Given the description of an element on the screen output the (x, y) to click on. 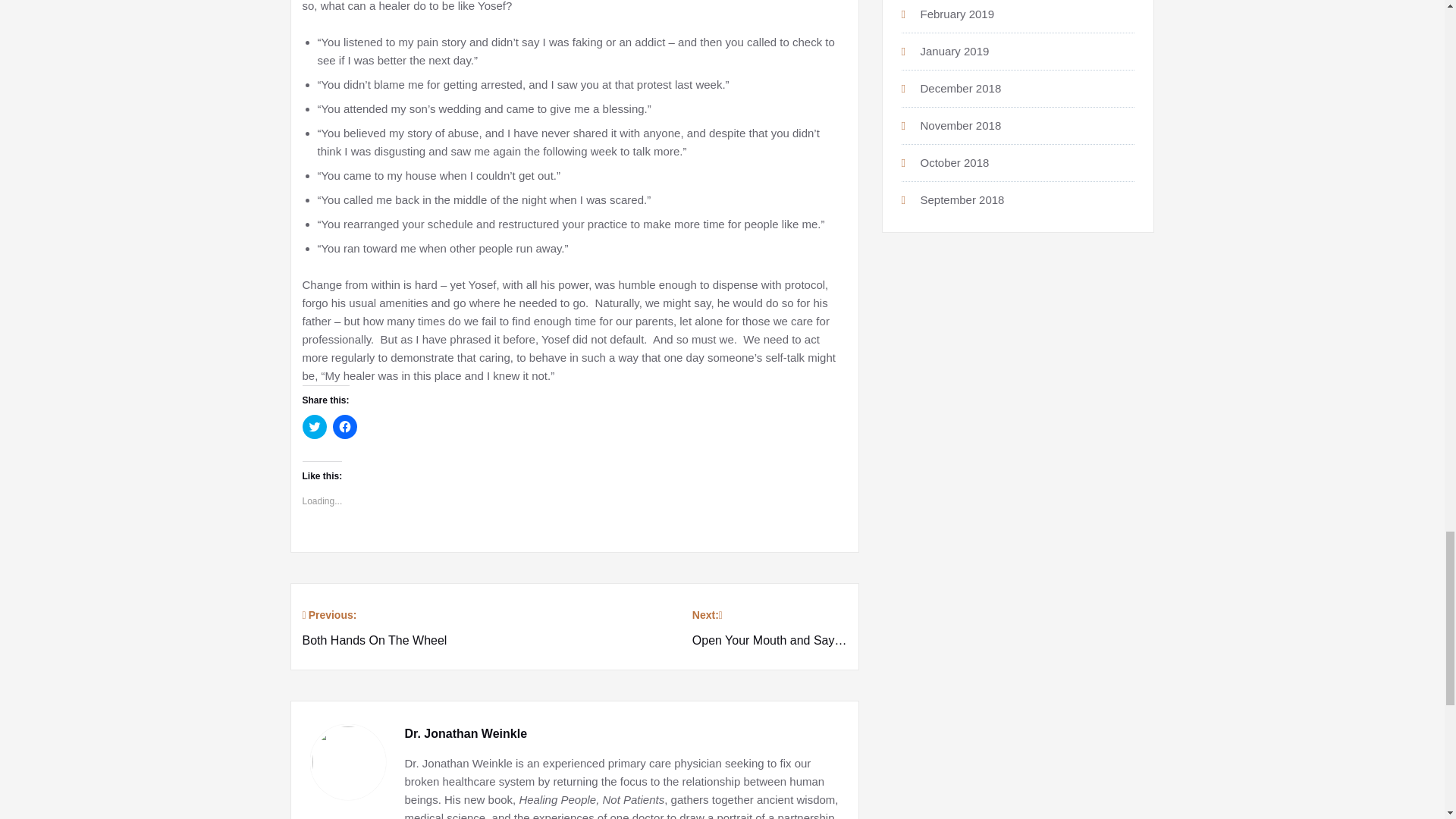
Click to share on Facebook (343, 426)
Click to share on Twitter (373, 628)
